Given the description of an element on the screen output the (x, y) to click on. 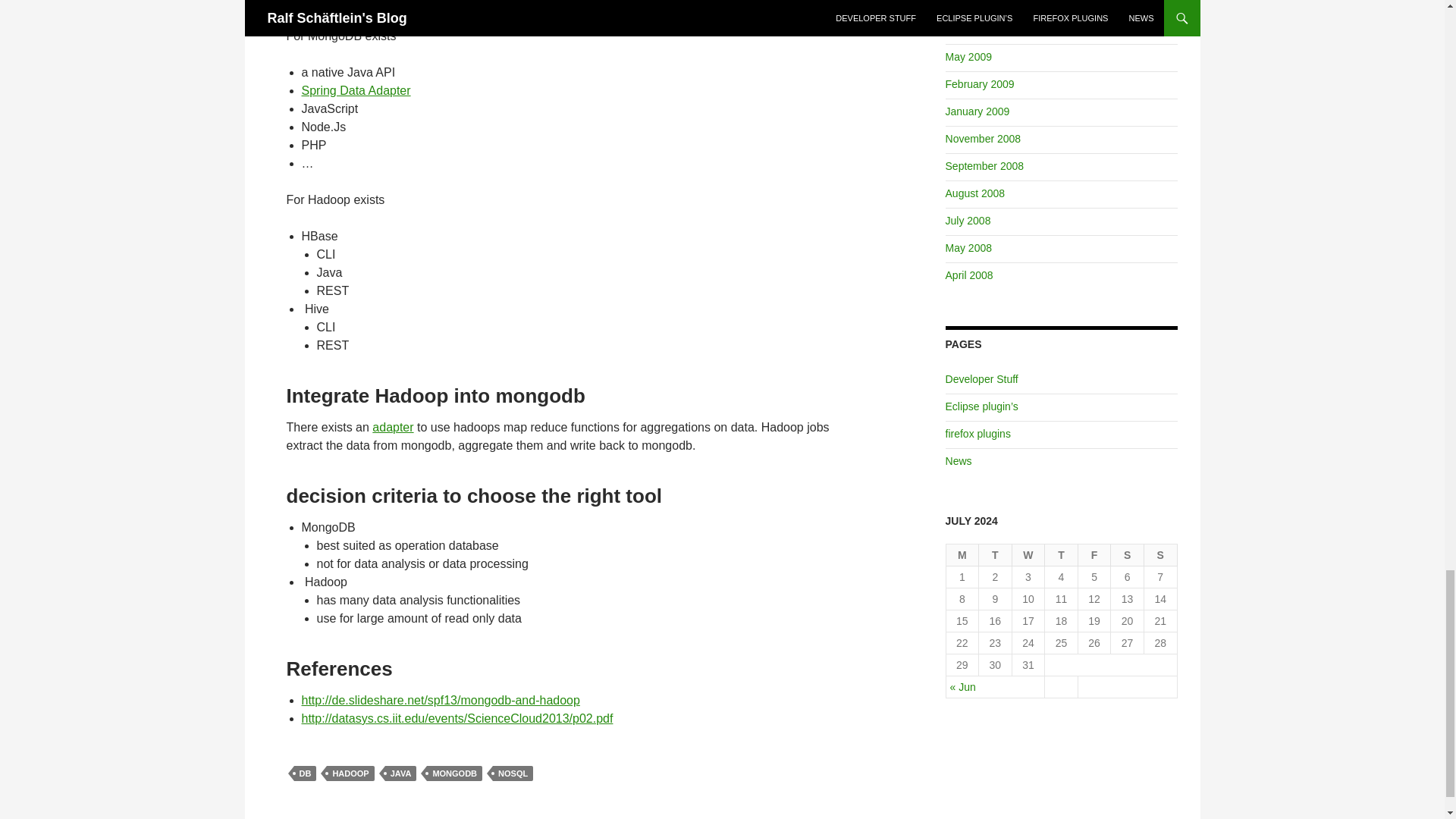
JAVA (400, 773)
MONGODB (453, 773)
Tuesday (994, 555)
Spring Data Adapter (355, 90)
Sunday (1160, 555)
HADOOP (350, 773)
Thursday (1061, 555)
Saturday (1127, 555)
Wednesday (1028, 555)
Friday (1095, 555)
Monday (962, 555)
NOSQL (512, 773)
adapter (392, 427)
DB (305, 773)
